Given the description of an element on the screen output the (x, y) to click on. 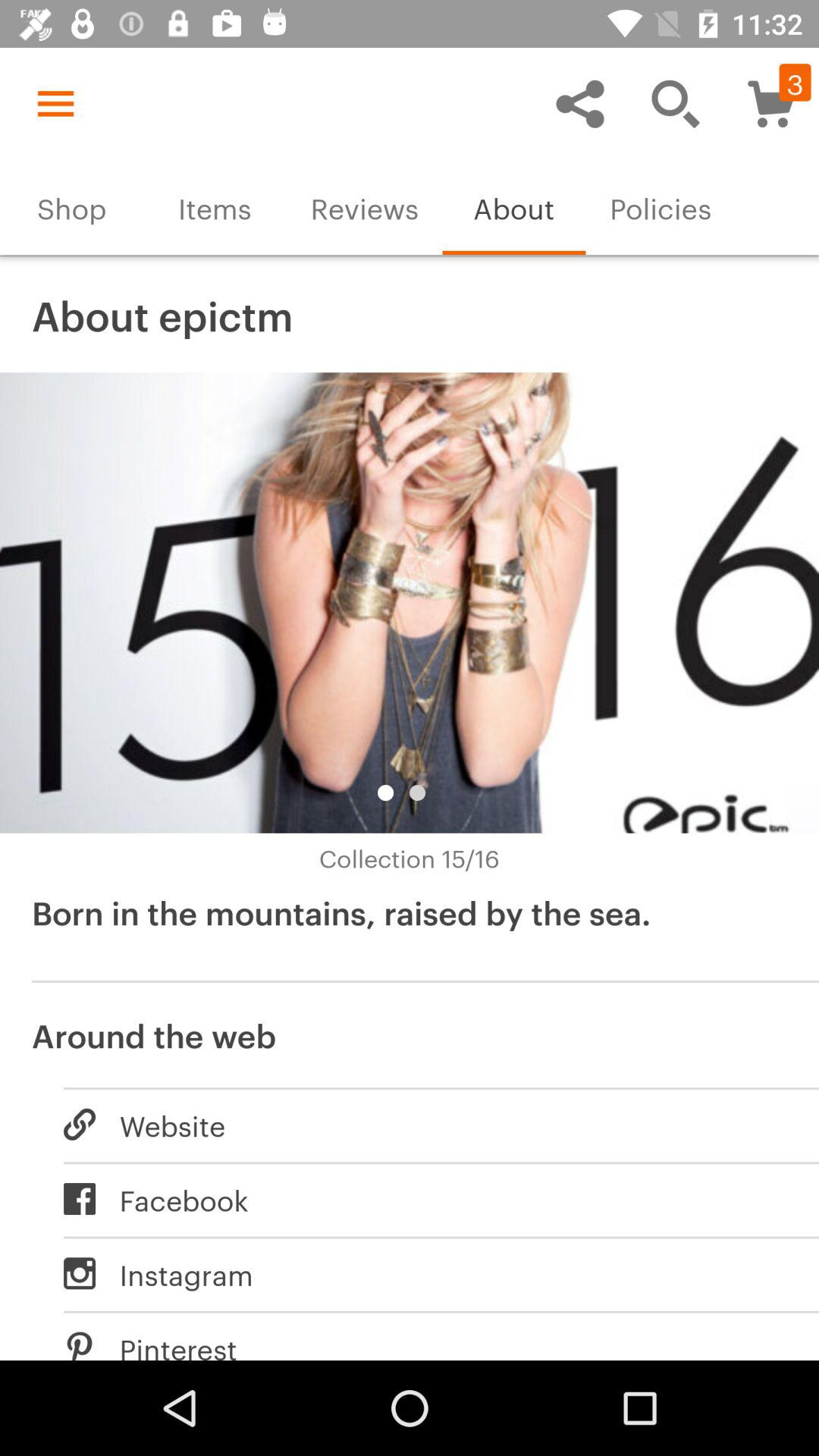
launch item above the website (409, 1033)
